Given the description of an element on the screen output the (x, y) to click on. 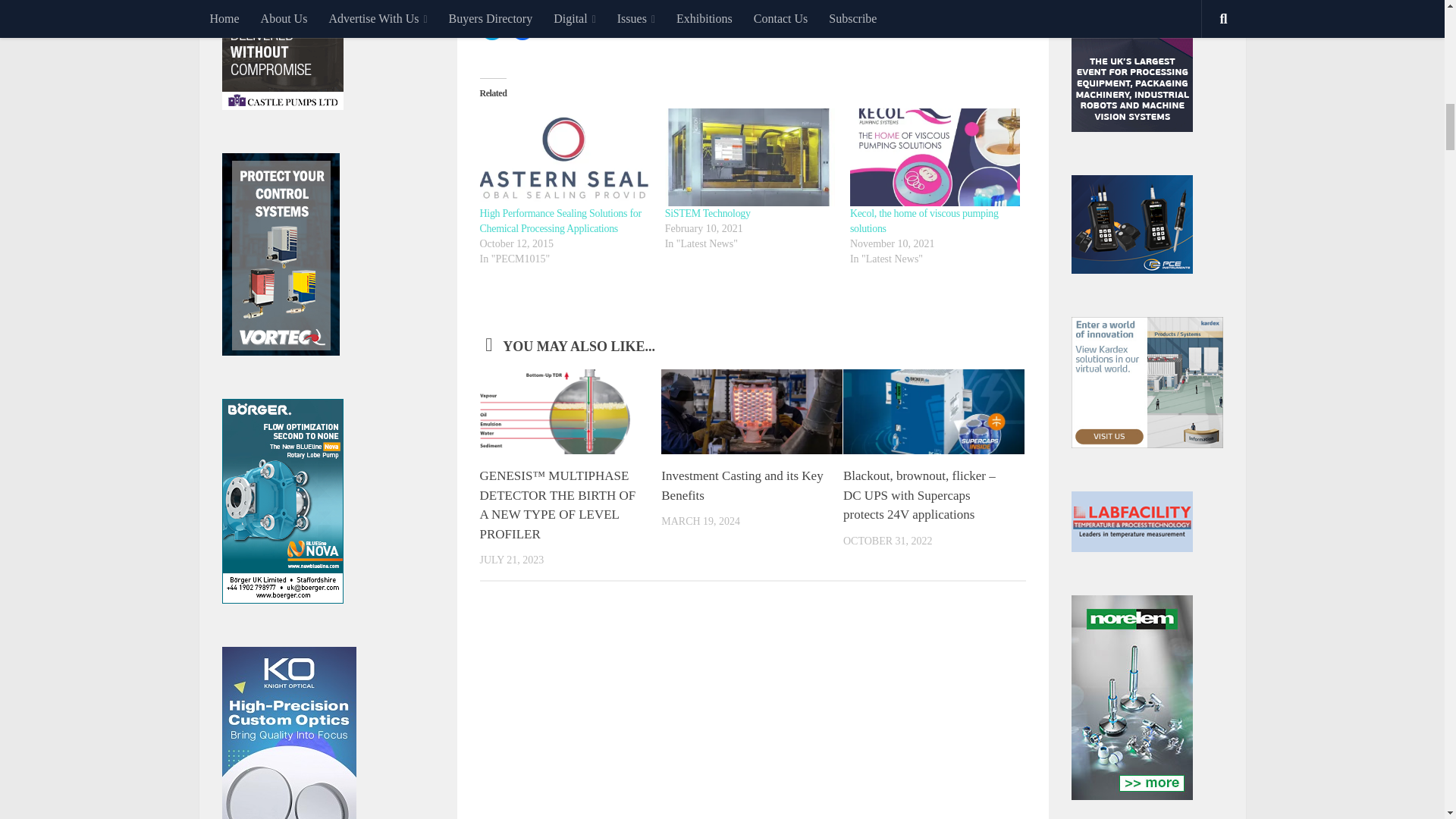
SiSTEM Technology (749, 156)
Click to share on Facebook (521, 27)
Kecol, the home of viscous pumping solutions (935, 156)
Kecol, the home of viscous pumping solutions (924, 221)
SiSTEM Technology (708, 213)
Click to share on Twitter (491, 27)
